Given the description of an element on the screen output the (x, y) to click on. 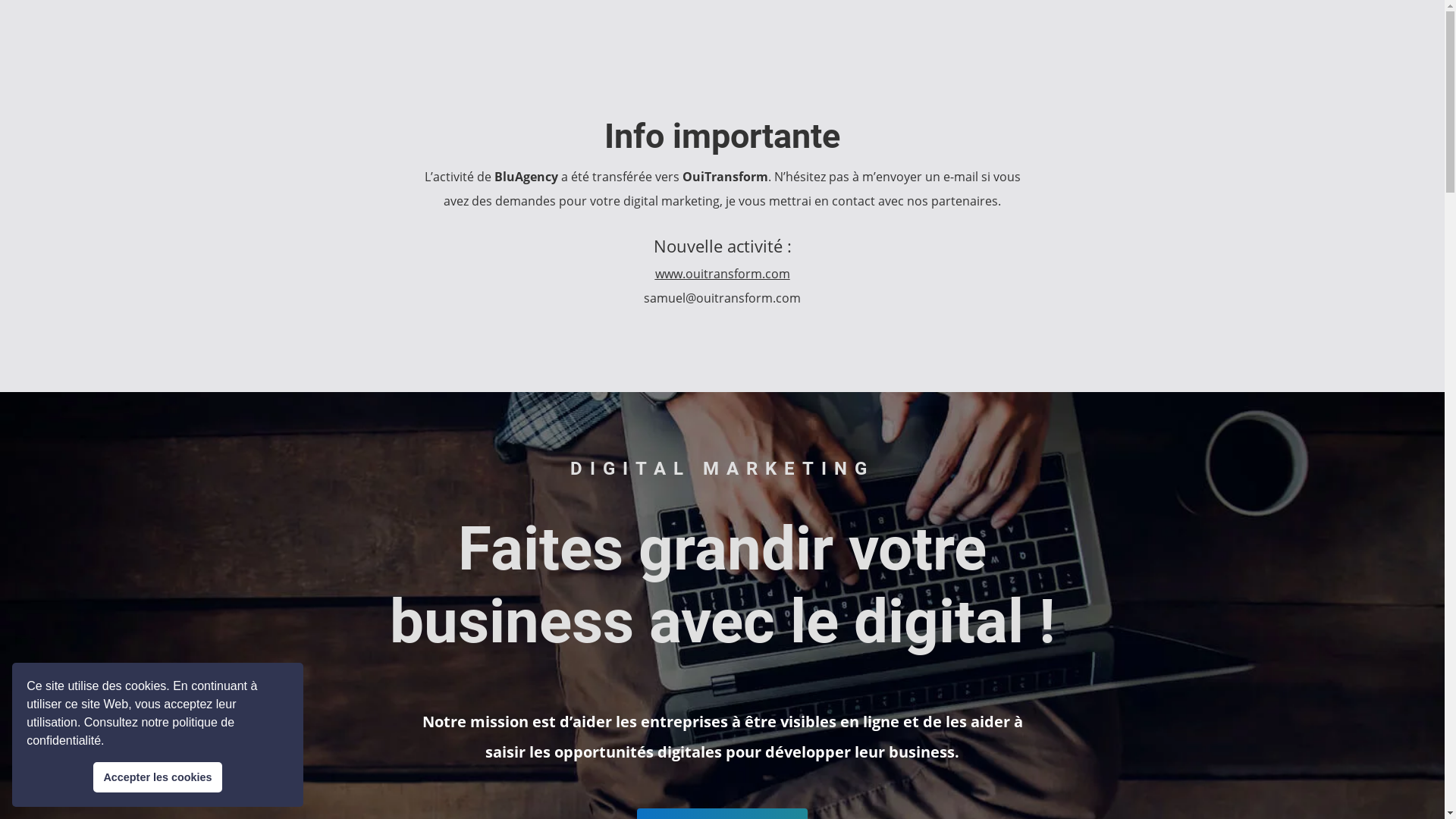
www.ouitransform.com Element type: text (722, 273)
Accepter les cookies Element type: text (157, 777)
